Given the description of an element on the screen output the (x, y) to click on. 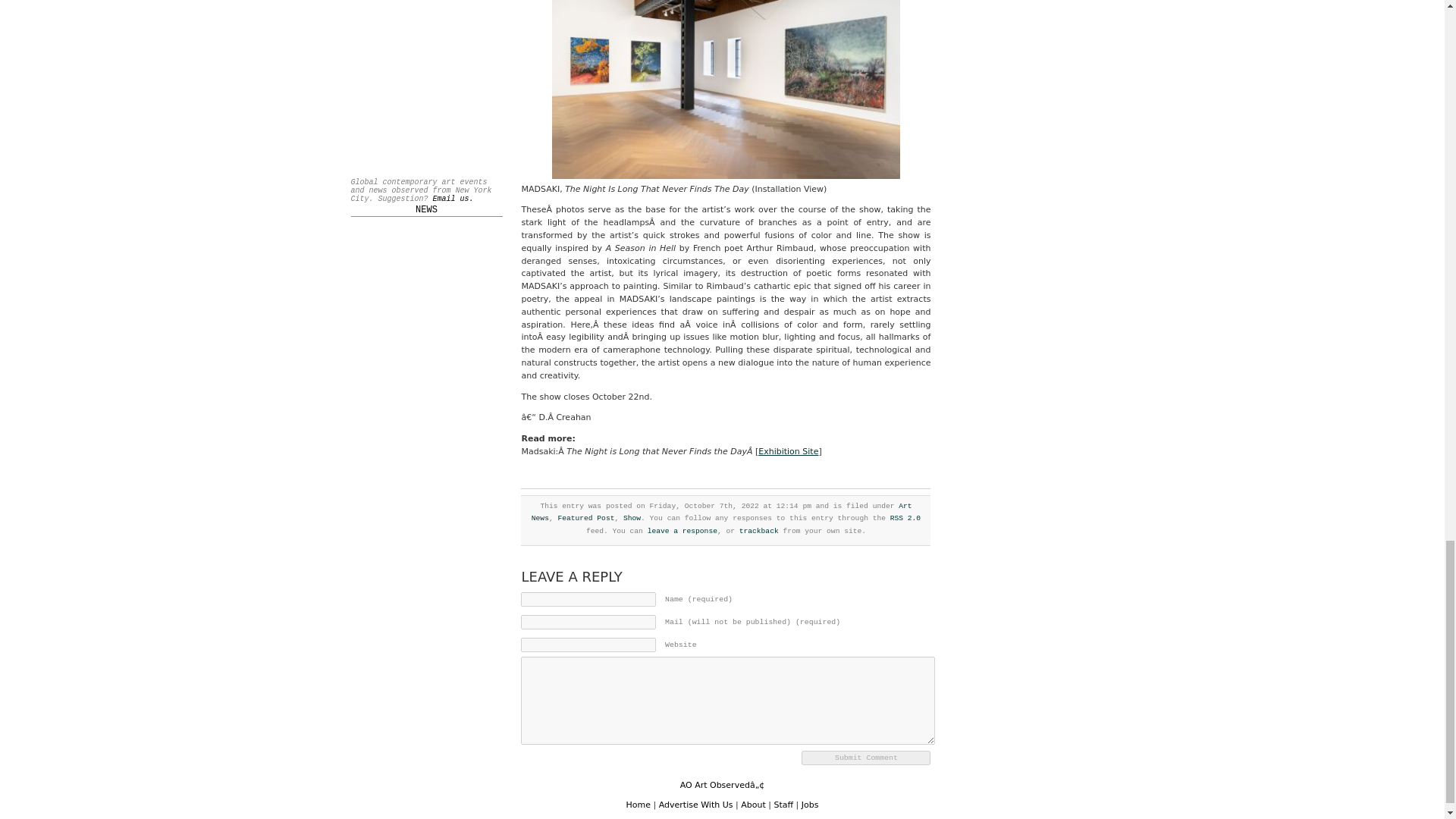
trackback (758, 531)
Featured Post (585, 518)
Art News (721, 512)
Submit Comment (866, 757)
Exhibition Site (788, 451)
RSS 2.0 (904, 518)
leave a response (682, 531)
Show (631, 518)
Submit Comment (866, 757)
